Given the description of an element on the screen output the (x, y) to click on. 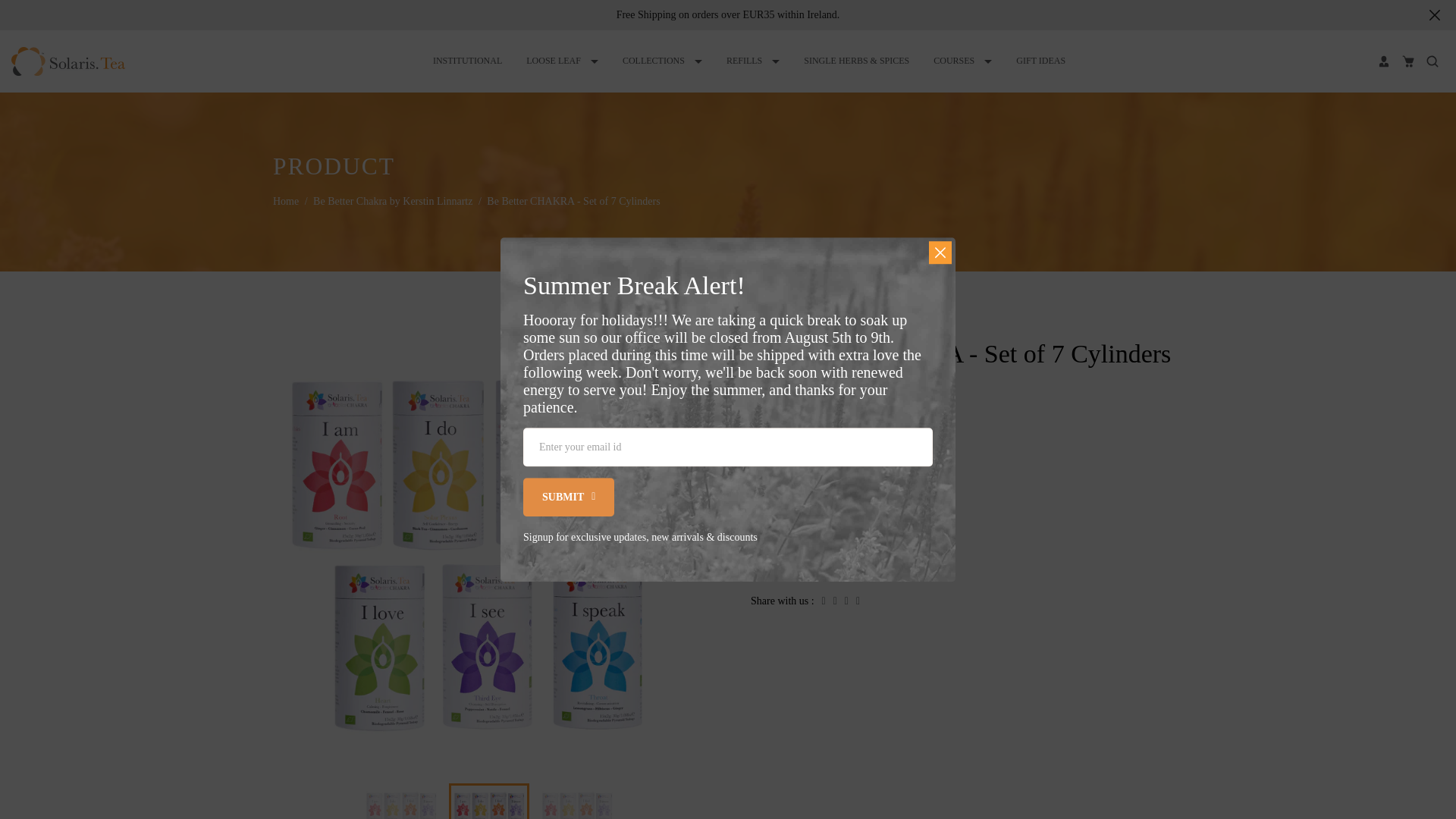
Be Better CHAKRA - Set of 7 Cylinders (489, 802)
LOOSE LEAF (562, 61)
COURSES (962, 61)
Free Shipping on orders over EUR35 within Ireland. (727, 14)
Your Cart (1407, 60)
Be Better CHAKRA - Set of 7 Cylinders (576, 802)
Search (1432, 60)
COLLECTIONS (662, 61)
1 (901, 503)
